Given the description of an element on the screen output the (x, y) to click on. 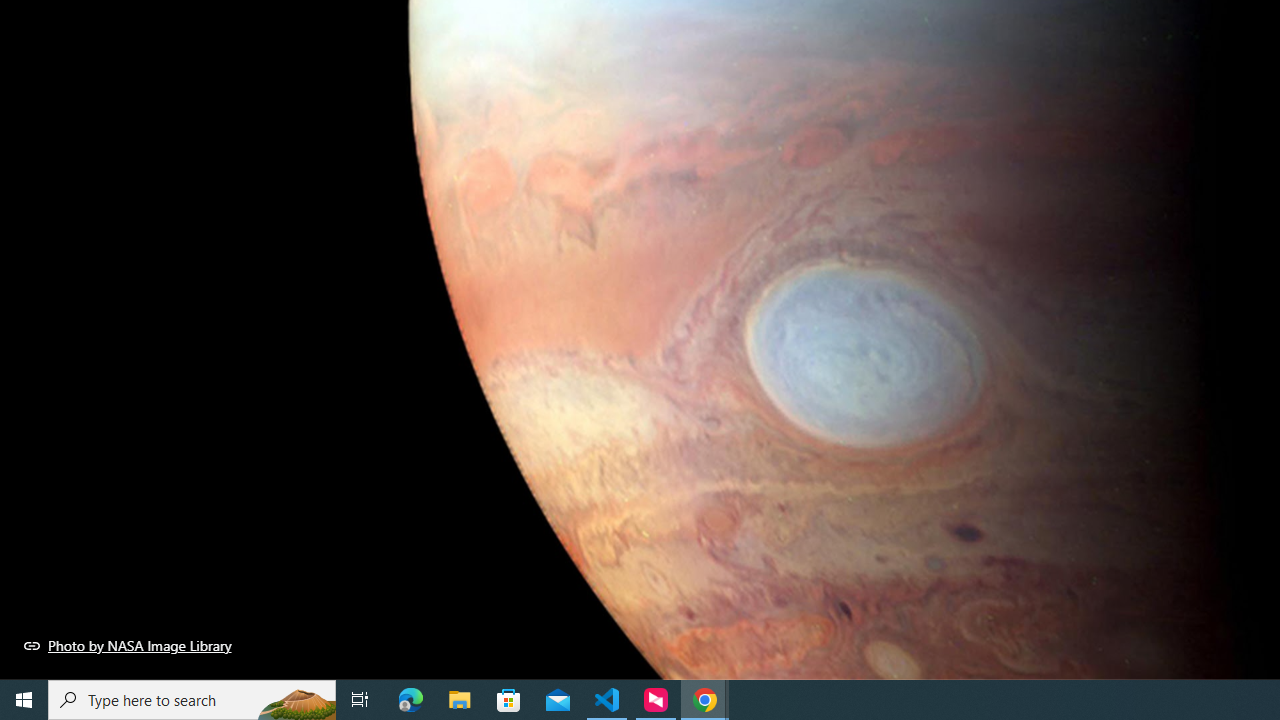
Photo by NASA Image Library (127, 645)
